Given the description of an element on the screen output the (x, y) to click on. 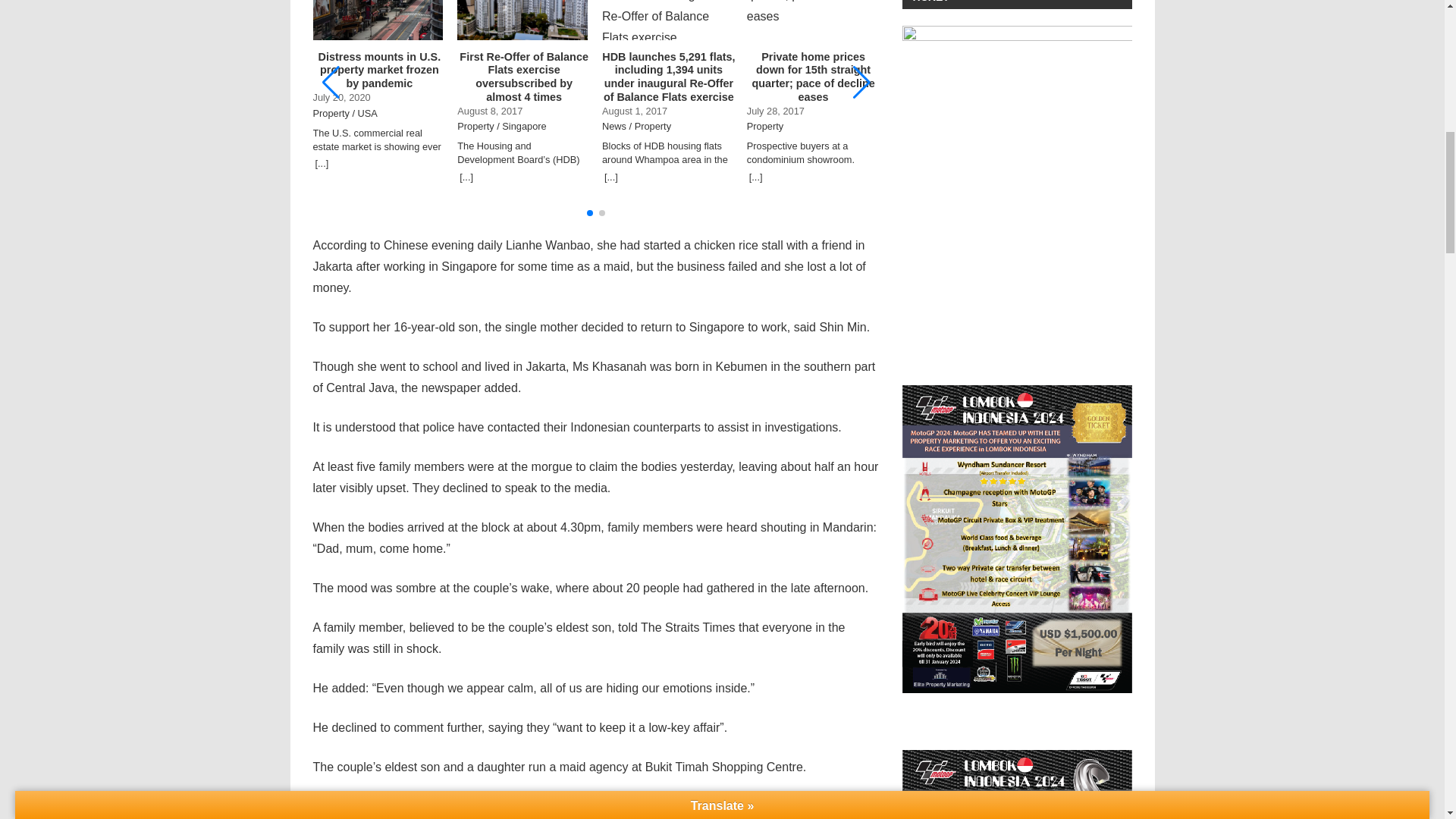
Distress mounts in U.S. property market frozen by pandemic (379, 70)
